Given the description of an element on the screen output the (x, y) to click on. 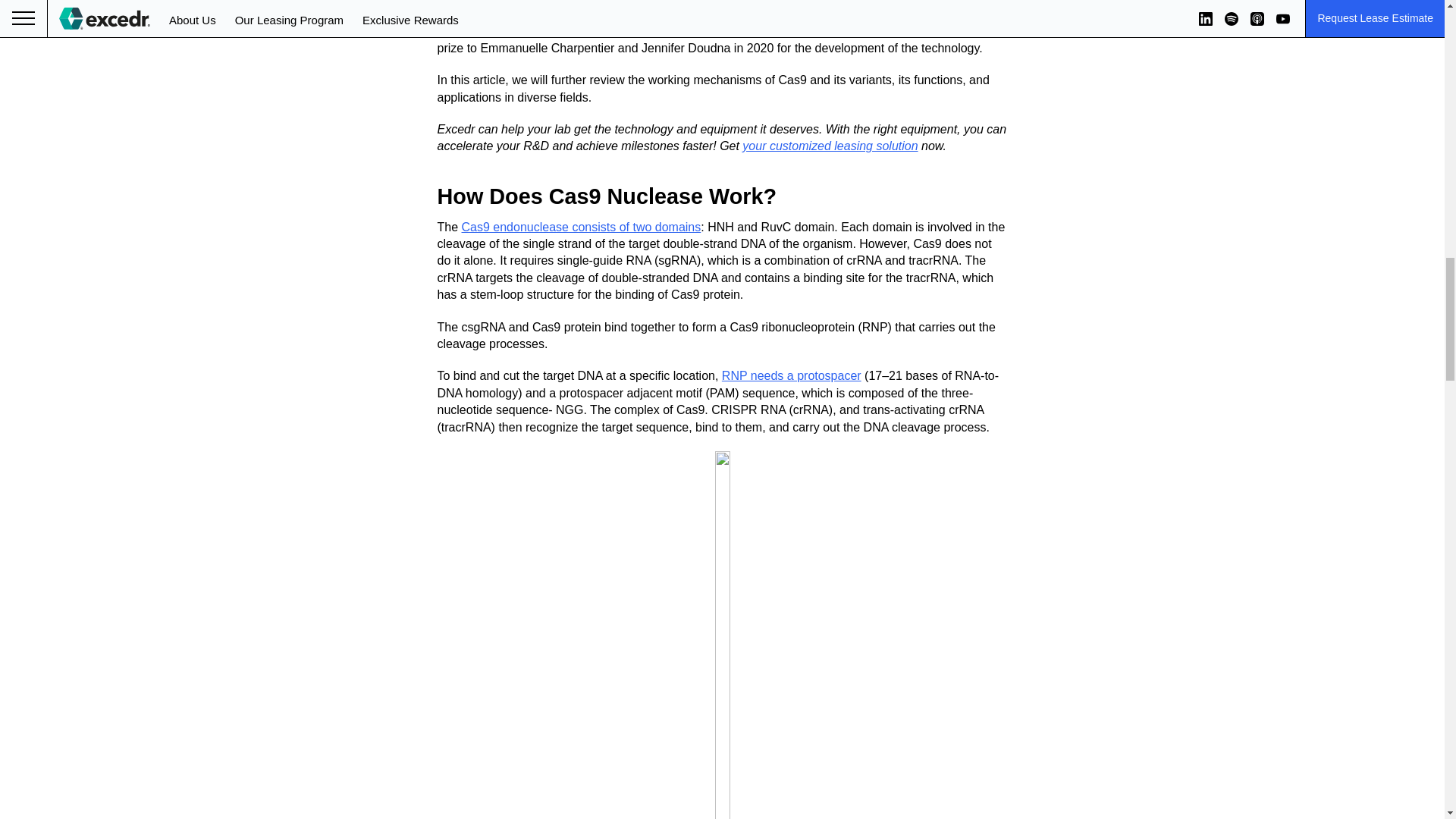
Cas9 endonuclease consists of two domains (581, 226)
RNP needs a protospacer (791, 375)
your customized leasing solution (829, 145)
molecular weight of 160 kilodaltons (660, 13)
